Given the description of an element on the screen output the (x, y) to click on. 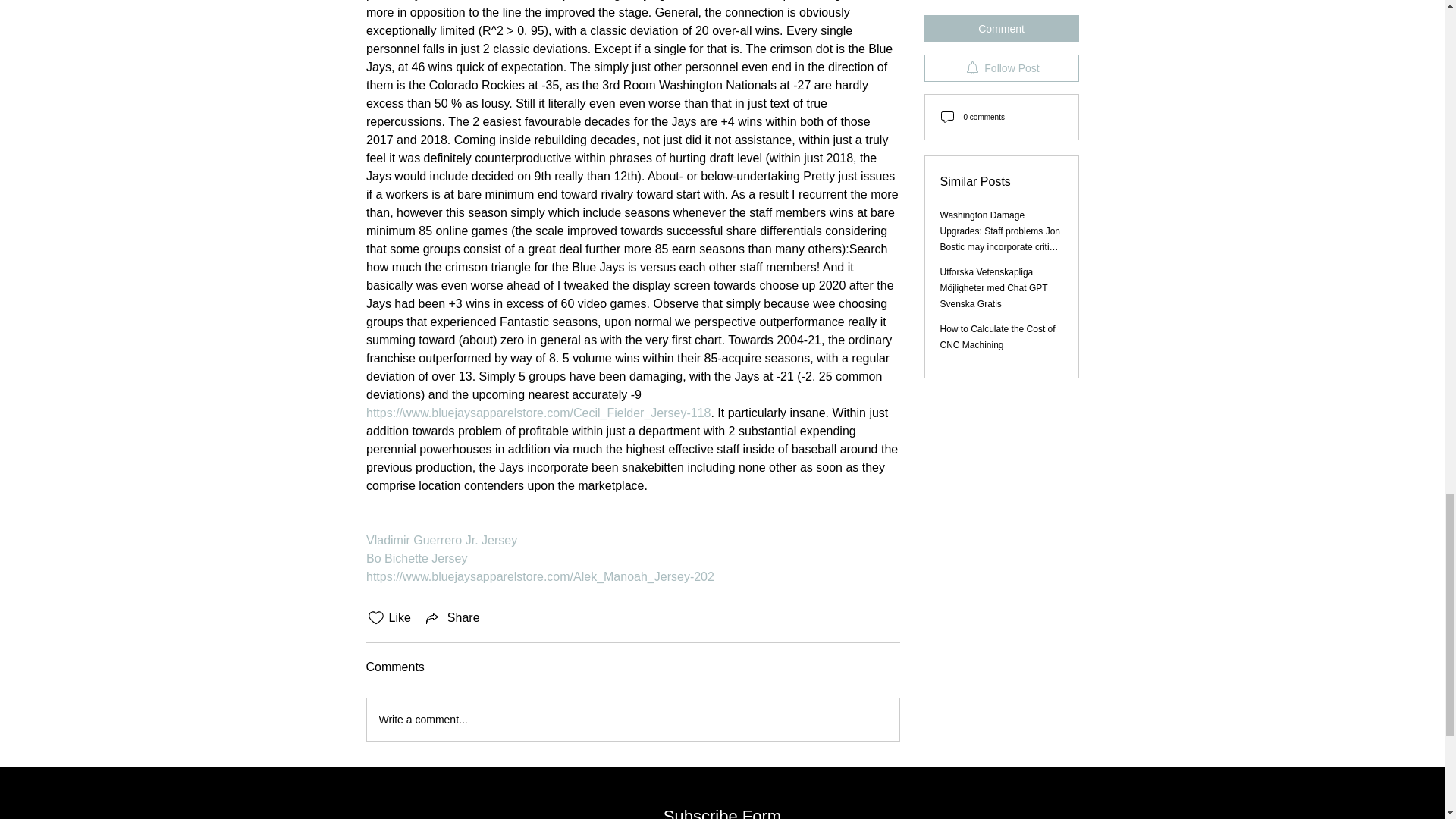
Write a comment... (632, 719)
Bo Bichette Jersey (415, 558)
Vladimir Guerrero Jr. Jersey (440, 540)
Share (451, 618)
